Given the description of an element on the screen output the (x, y) to click on. 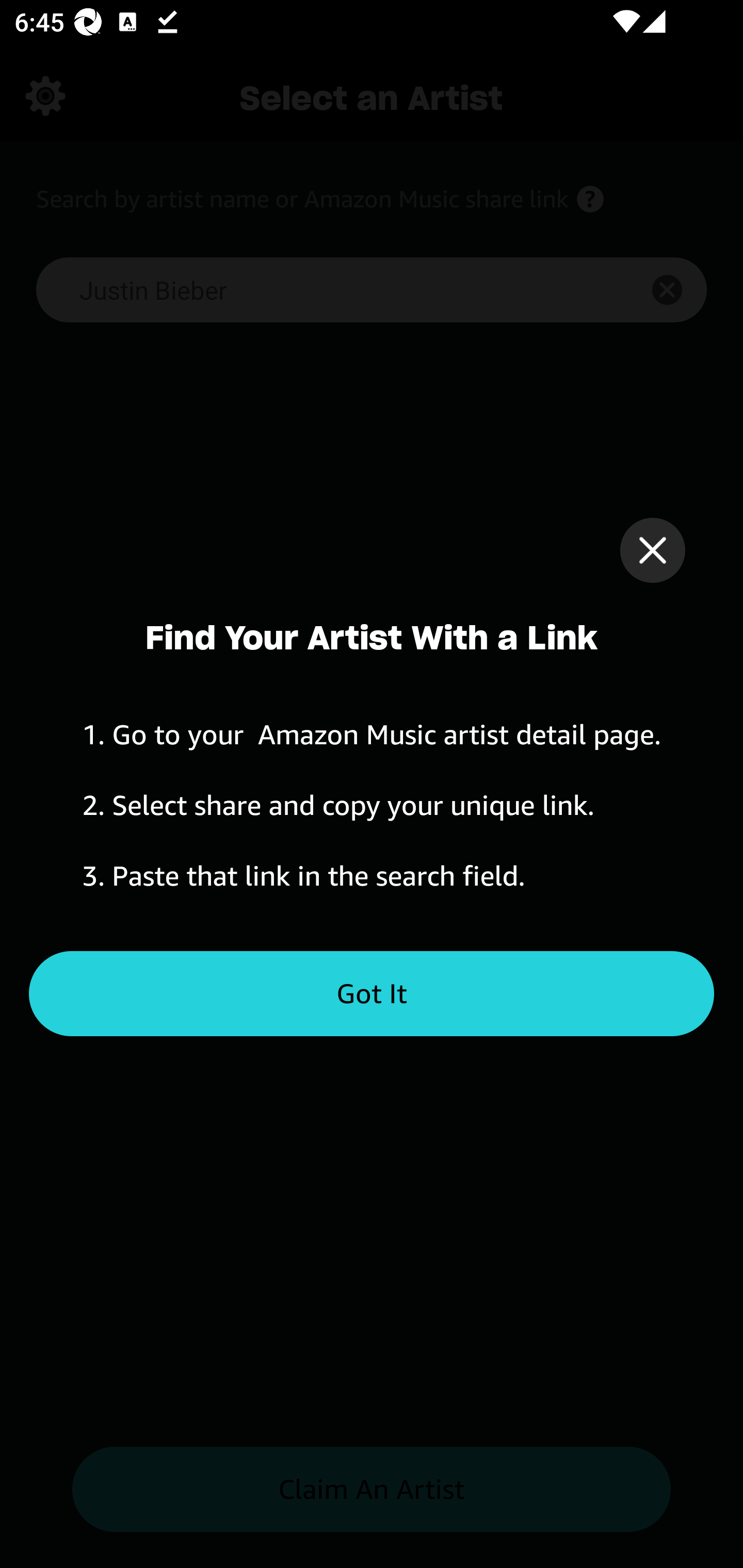
Generic_dismiss  icon (652, 550)
Got it button Got It (371, 993)
